Given the description of an element on the screen output the (x, y) to click on. 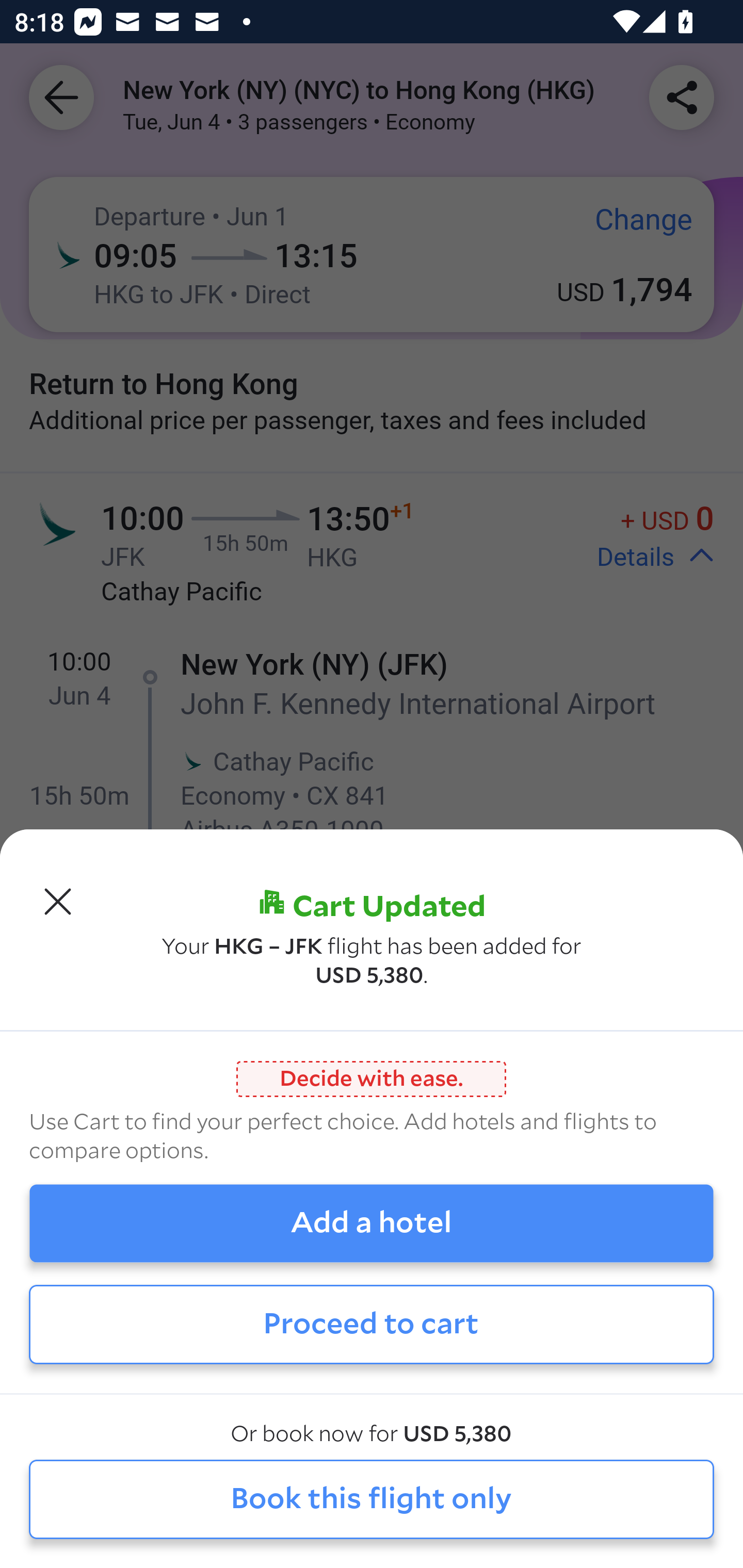
Add a hotel  Add a hotel (371, 1223)
Proceed to cart  Proceed to cart (371, 1324)
Book this flight only  Book this flight only (371, 1499)
